Given the description of an element on the screen output the (x, y) to click on. 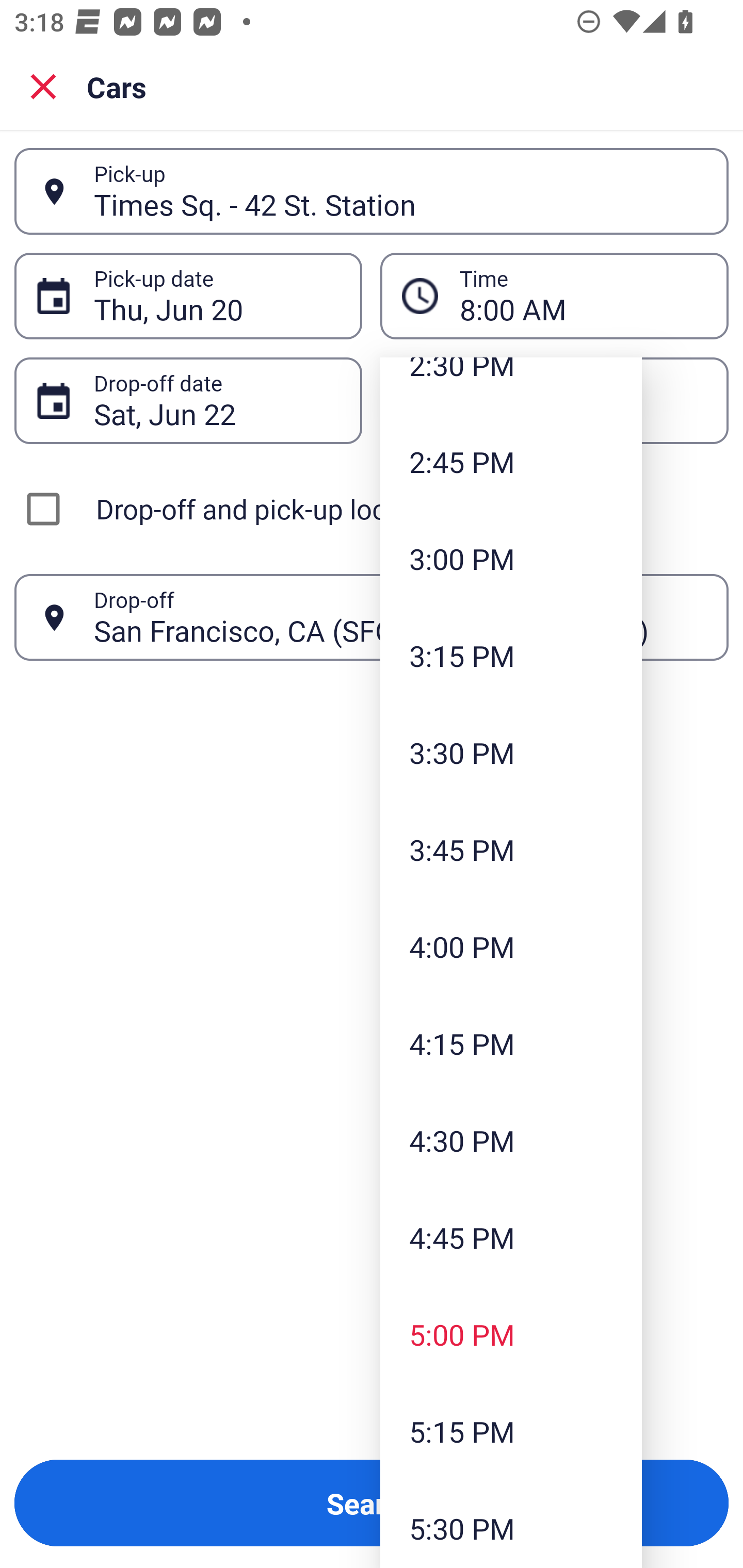
2:30 PM (510, 384)
2:45 PM (510, 460)
3:00 PM (510, 557)
3:15 PM (510, 655)
3:30 PM (510, 752)
3:45 PM (510, 849)
4:00 PM (510, 946)
4:15 PM (510, 1043)
4:30 PM (510, 1139)
4:45 PM (510, 1236)
5:00 PM (510, 1333)
5:15 PM (510, 1431)
5:30 PM (510, 1524)
